Given the description of an element on the screen output the (x, y) to click on. 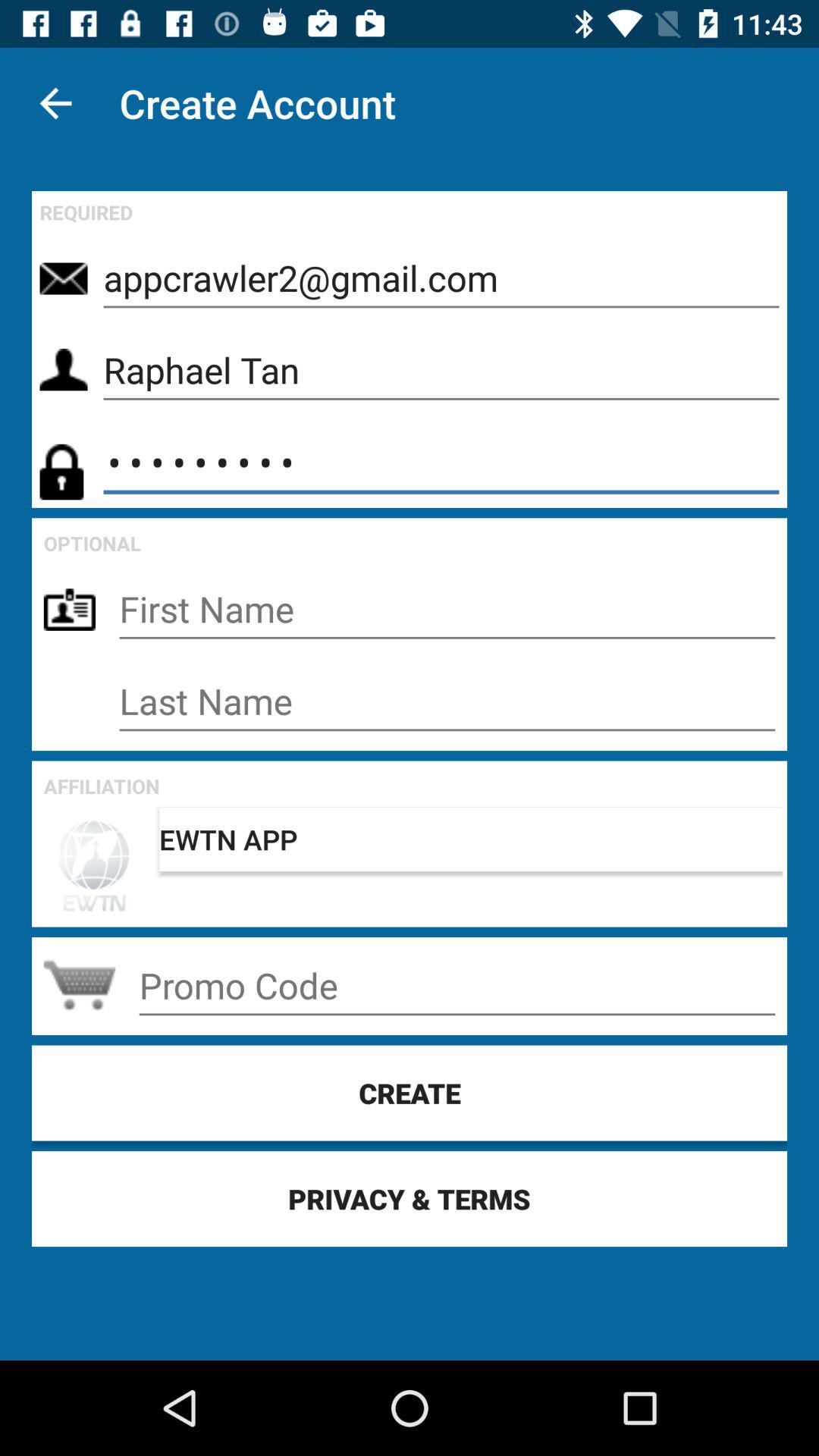
fill in the field with your first name (447, 609)
